Given the description of an element on the screen output the (x, y) to click on. 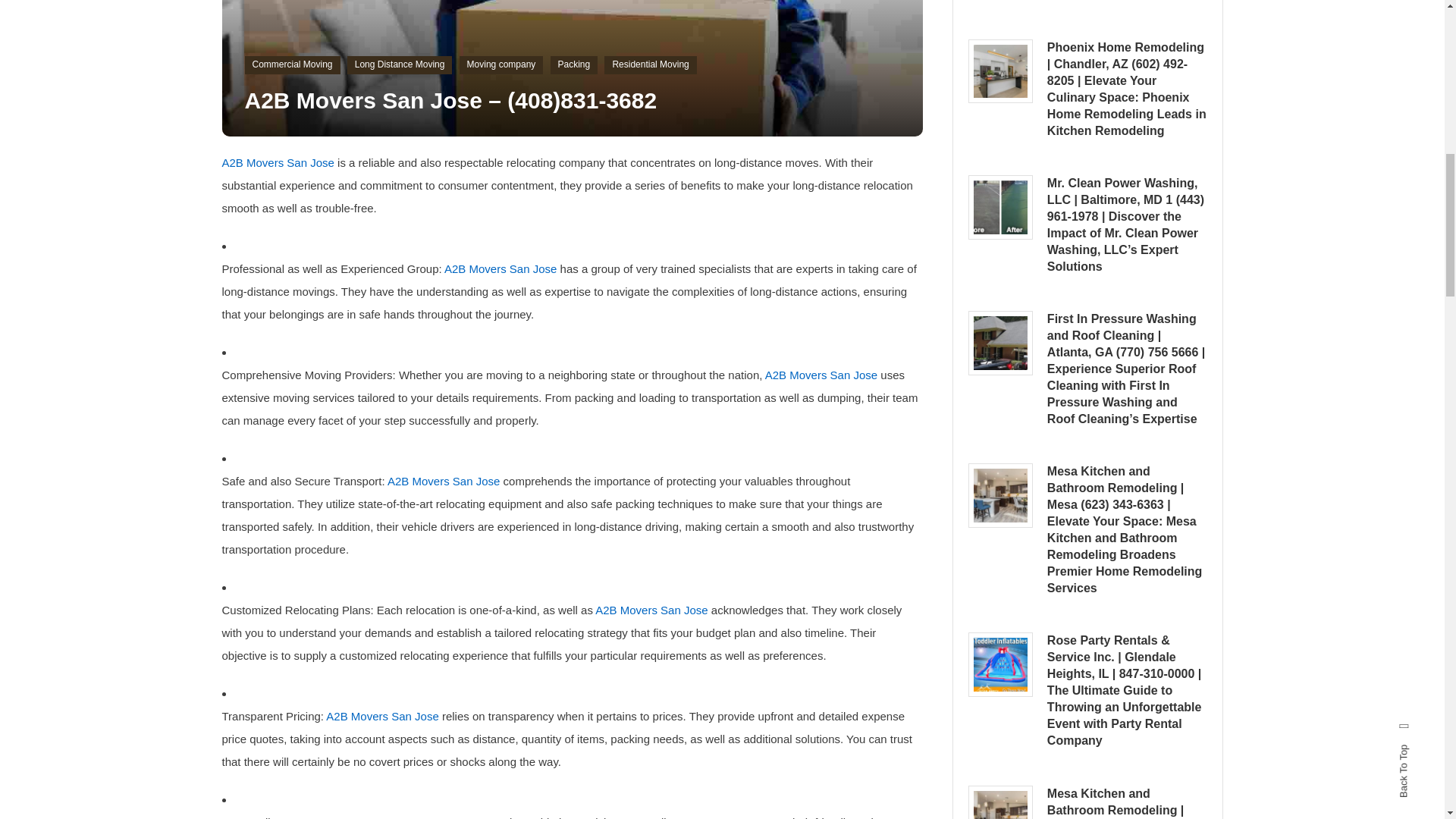
Commercial Moving (291, 65)
Moving company (501, 65)
Long Distance Moving (399, 65)
